Given the description of an element on the screen output the (x, y) to click on. 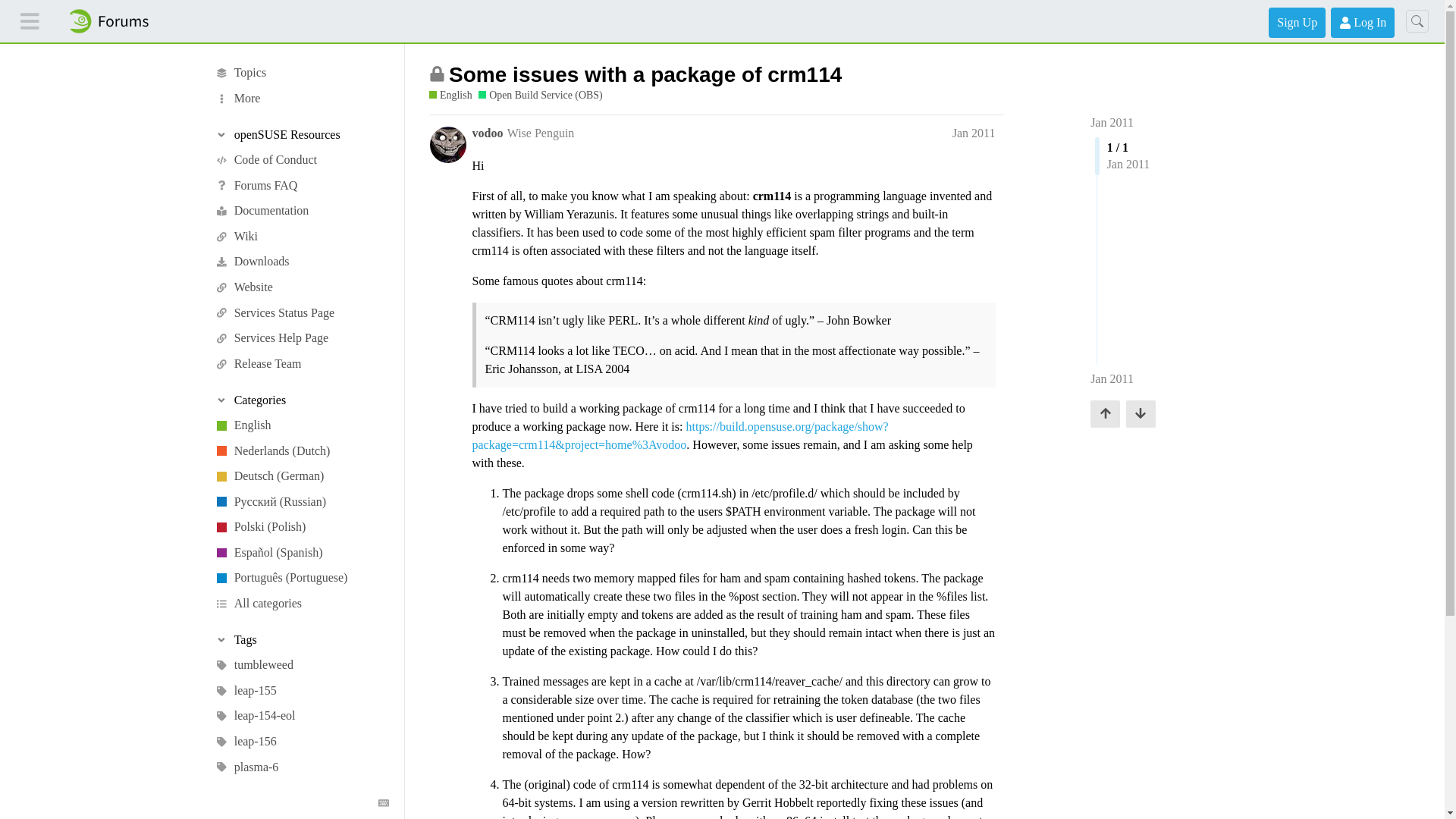
Toggle section (295, 134)
Website (295, 287)
Log In (1362, 22)
Sidebar (29, 21)
plasma-6 (295, 767)
Search (1417, 20)
Categories (295, 400)
Documentation (295, 211)
Services Help Page (295, 338)
